Given the description of an element on the screen output the (x, y) to click on. 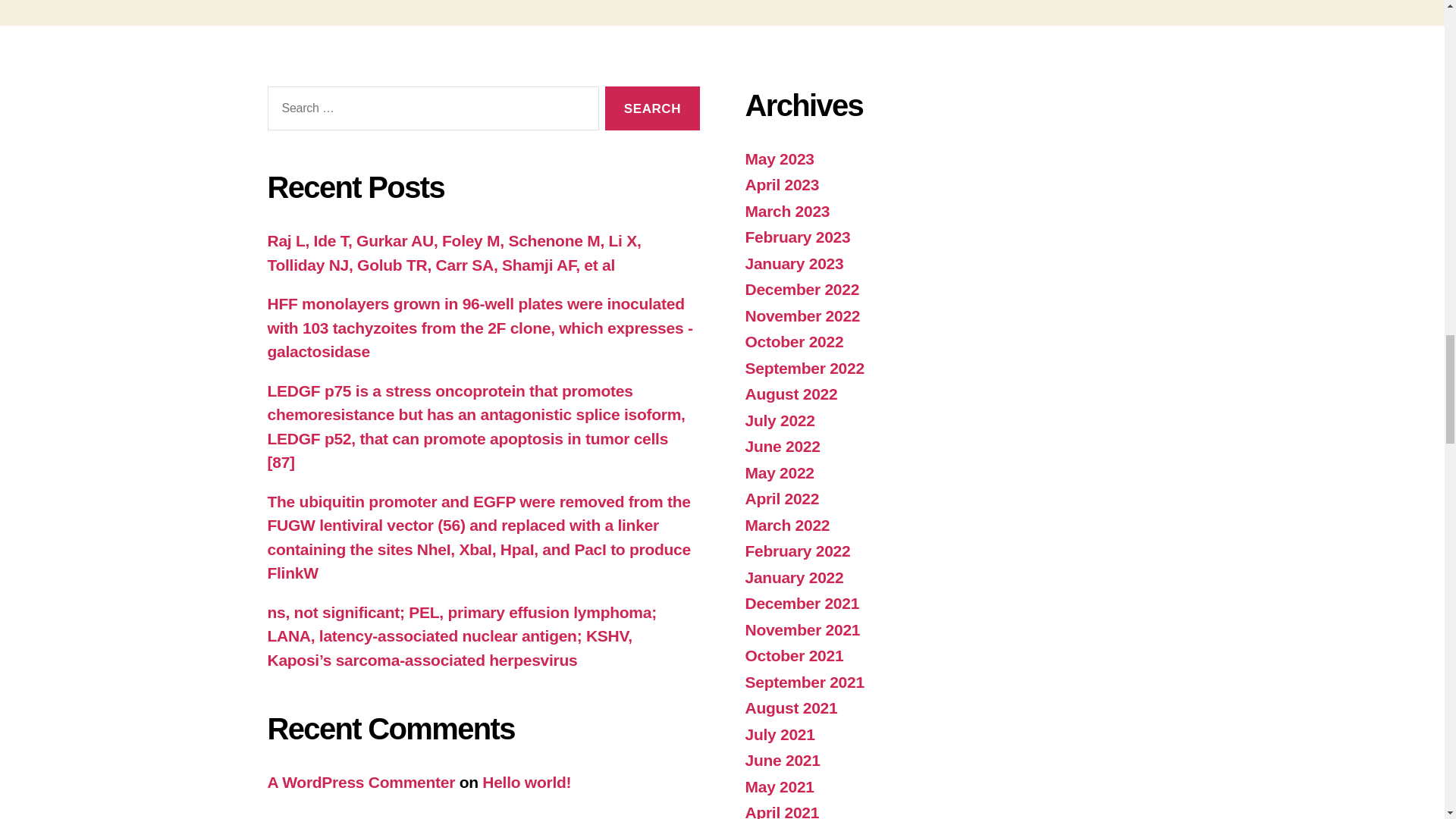
Search (651, 108)
October 2022 (793, 341)
A WordPress Commenter (360, 782)
Search (651, 108)
February 2022 (797, 550)
August 2022 (790, 393)
Hello world! (525, 782)
February 2023 (797, 236)
